Given the description of an element on the screen output the (x, y) to click on. 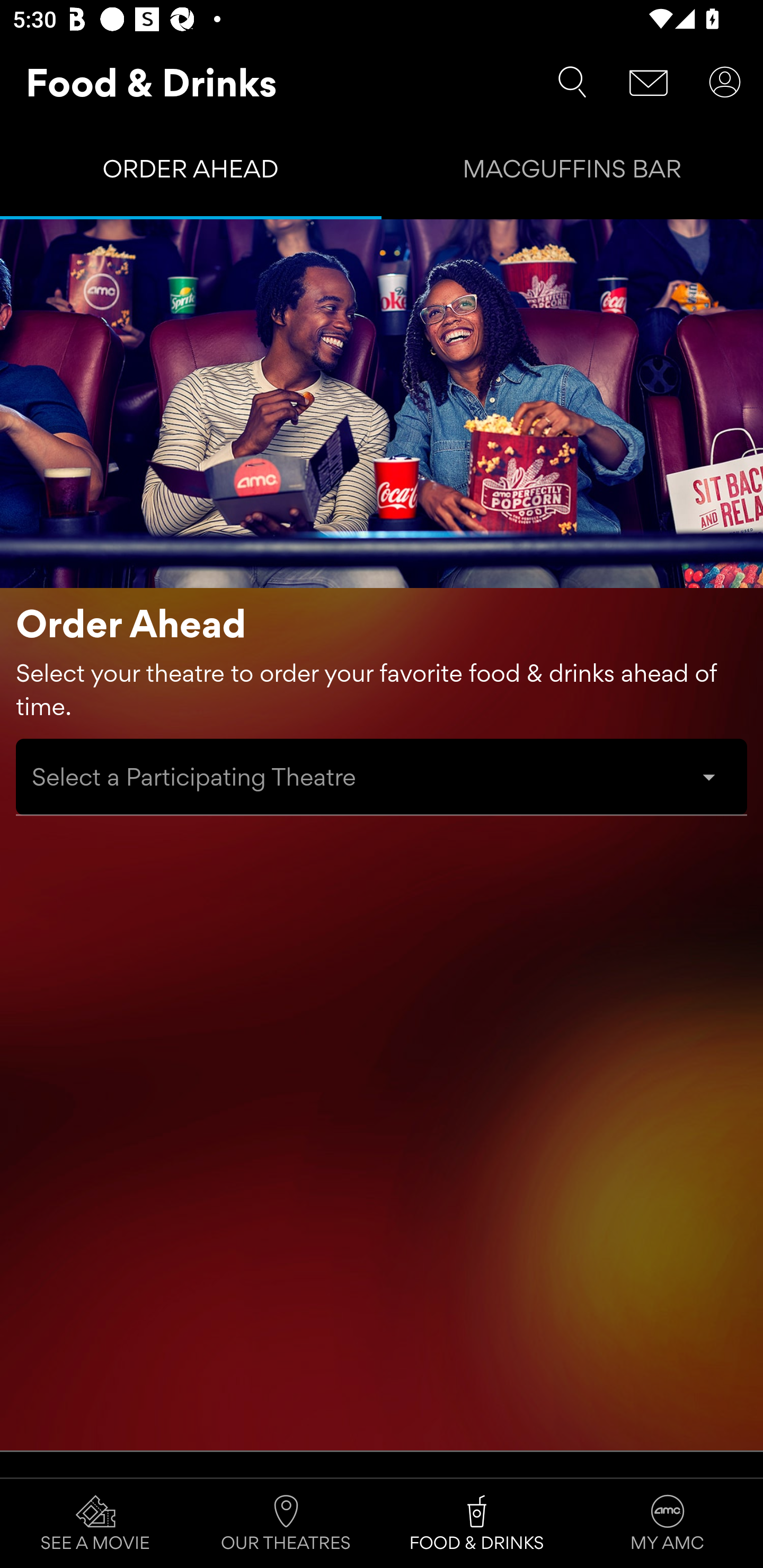
Search (572, 82)
Message Center (648, 82)
User Account (724, 82)
ORDER AHEAD
Tab 1 of 2 (190, 173)
MACGUFFINS BAR
Tab 2 of 2 (572, 173)
SEE A MOVIE
Tab 1 of 4 (95, 1523)
OUR THEATRES
Tab 2 of 4 (285, 1523)
FOOD & DRINKS
Tab 3 of 4 (476, 1523)
MY AMC
Tab 4 of 4 (667, 1523)
